Given the description of an element on the screen output the (x, y) to click on. 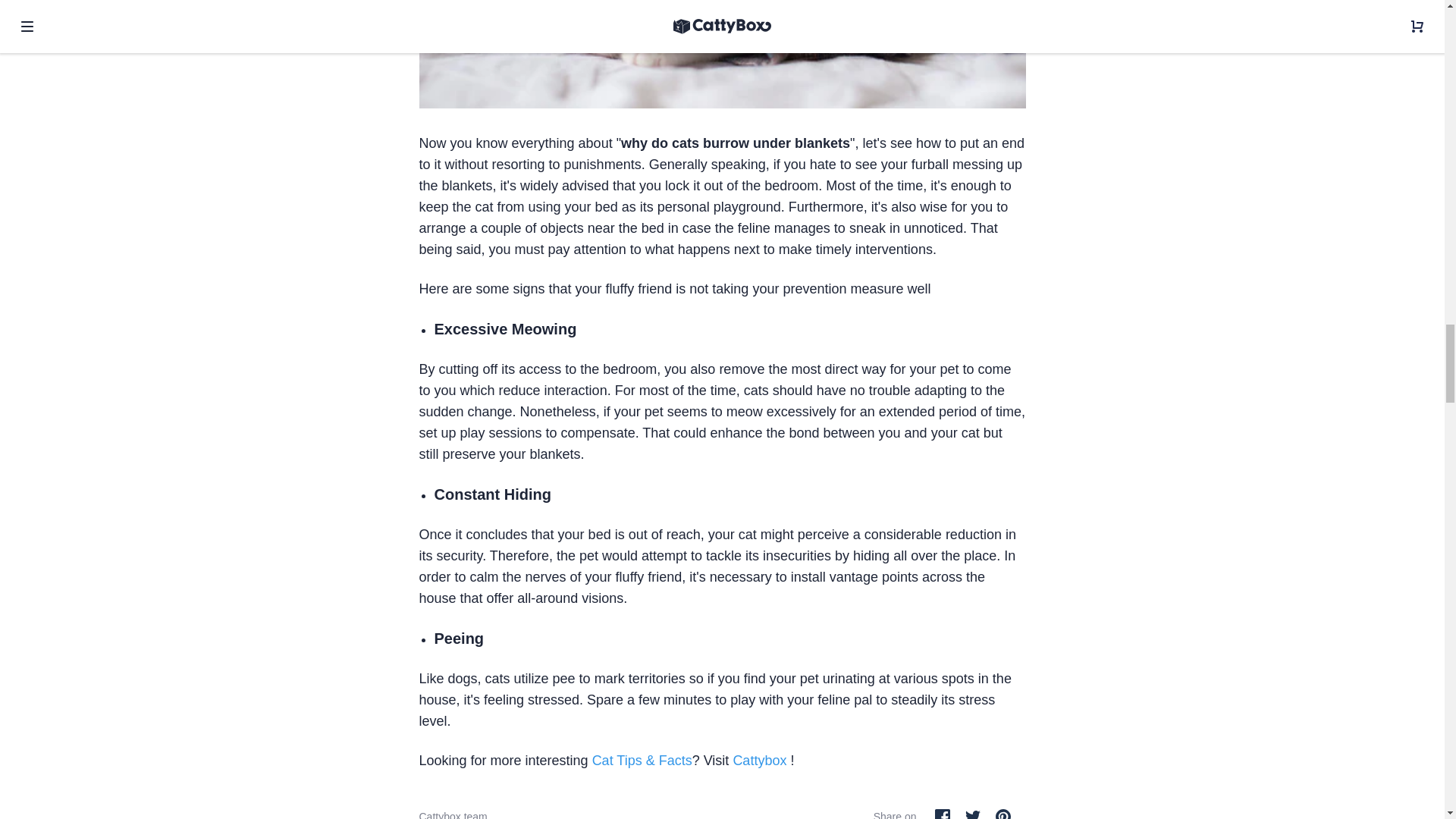
Twitter (971, 814)
Facebook (941, 814)
cat tips and facts (642, 760)
Cattybox (759, 760)
Pinterest (1002, 814)
